Given the description of an element on the screen output the (x, y) to click on. 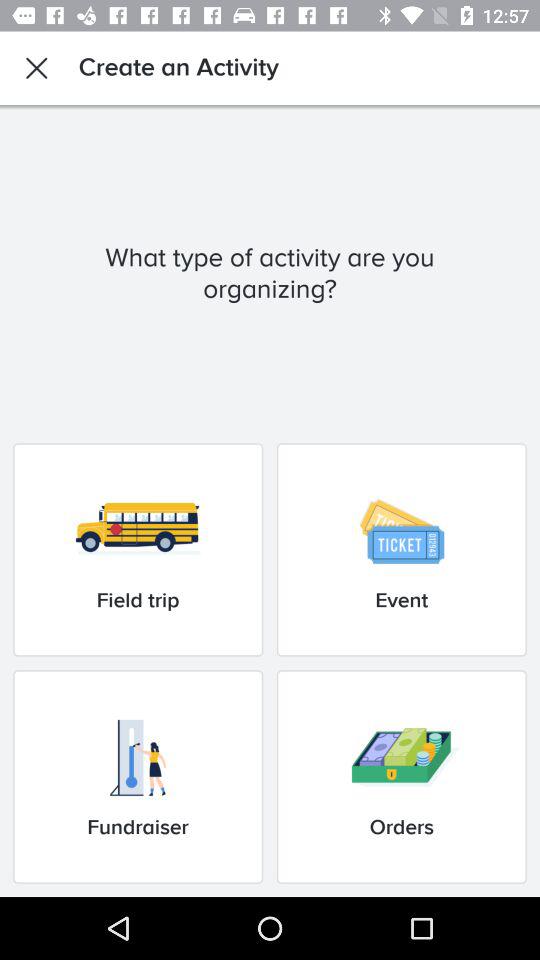
tap the field trip icon (138, 549)
